Given the description of an element on the screen output the (x, y) to click on. 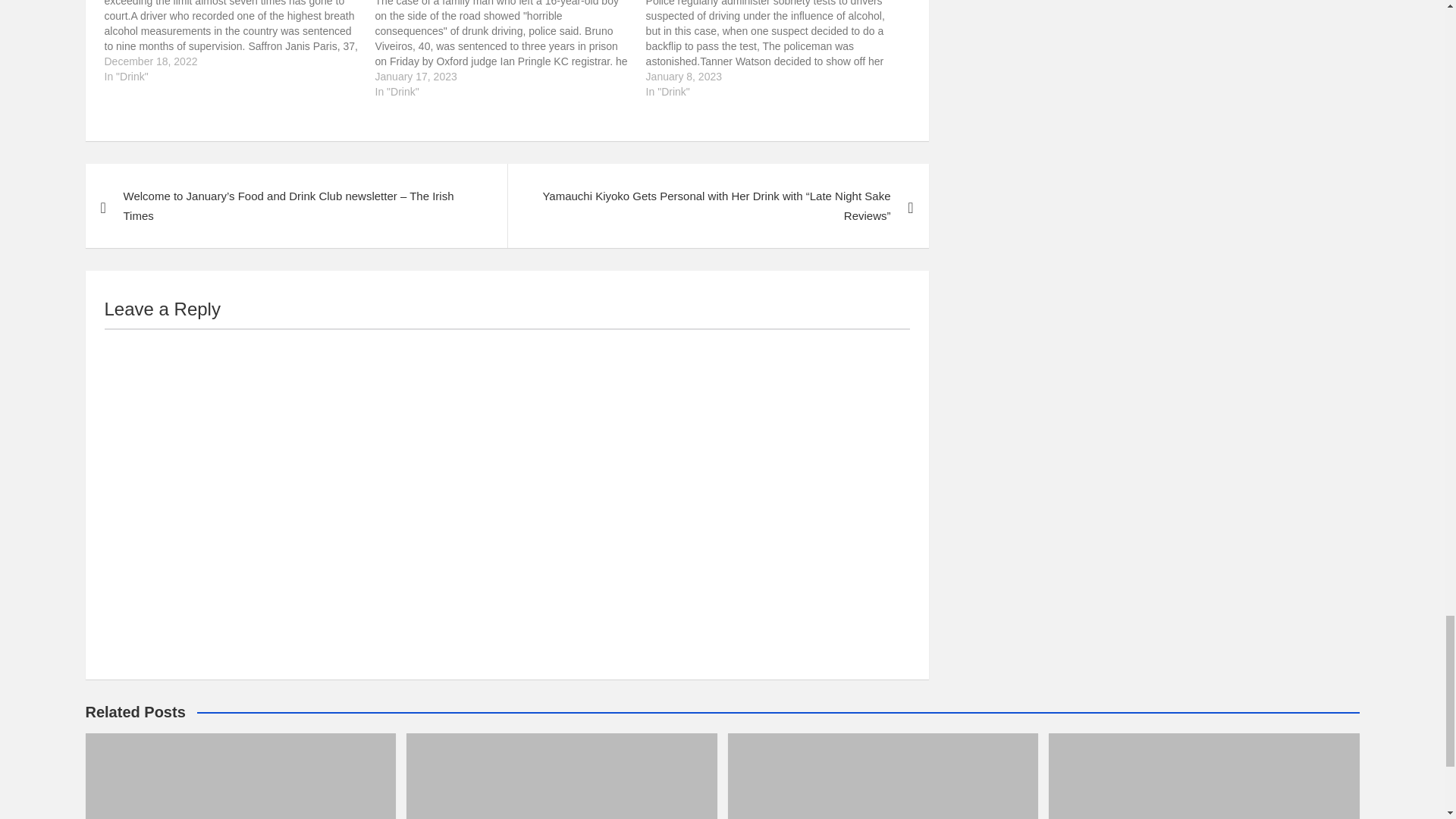
Drink driver almost seven times over limit sentenced (239, 42)
